Given the description of an element on the screen output the (x, y) to click on. 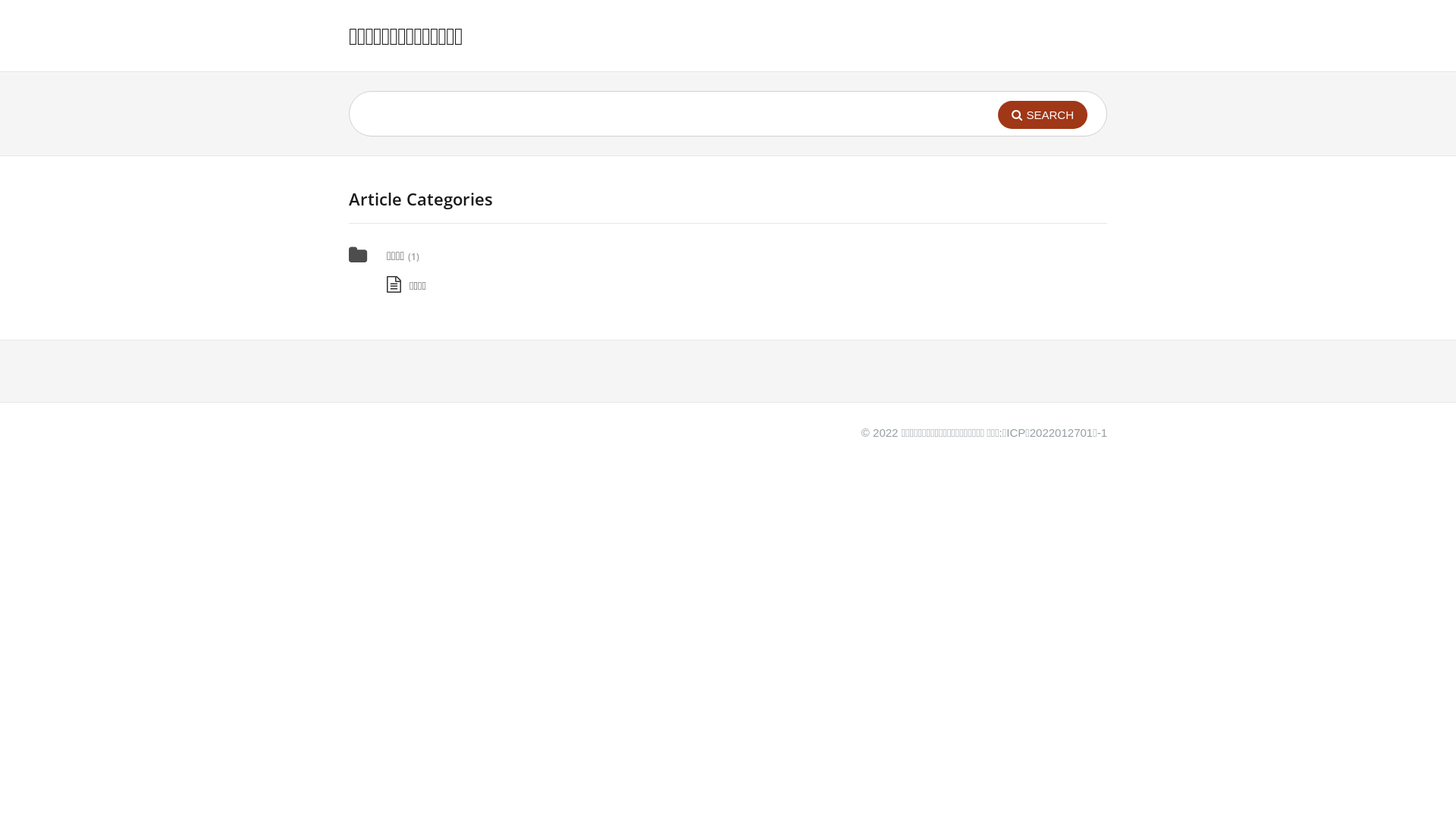
SEARCH Element type: text (1042, 114)
